Given the description of an element on the screen output the (x, y) to click on. 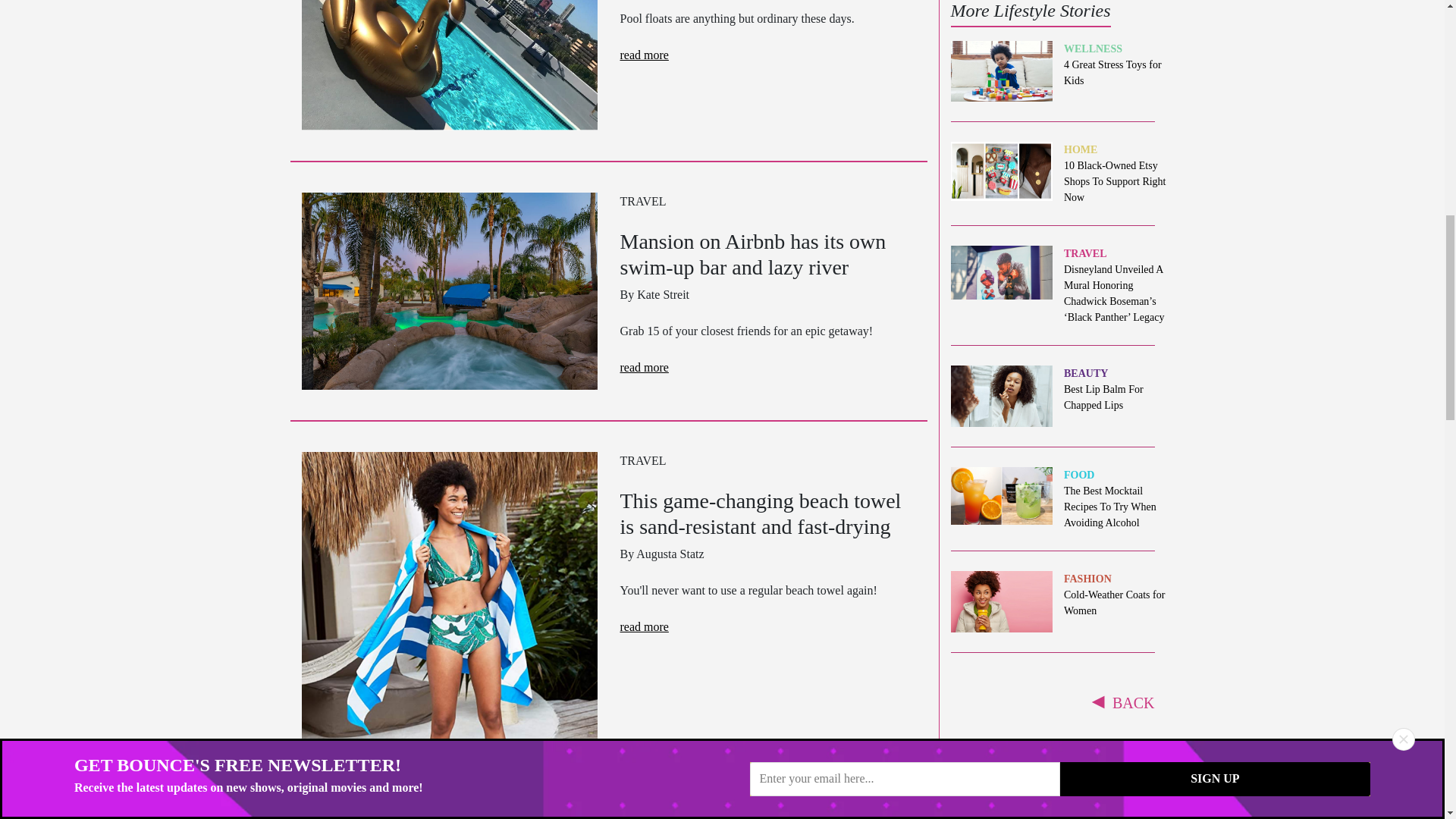
read more (644, 626)
read more (644, 54)
read more (1052, 34)
